Given the description of an element on the screen output the (x, y) to click on. 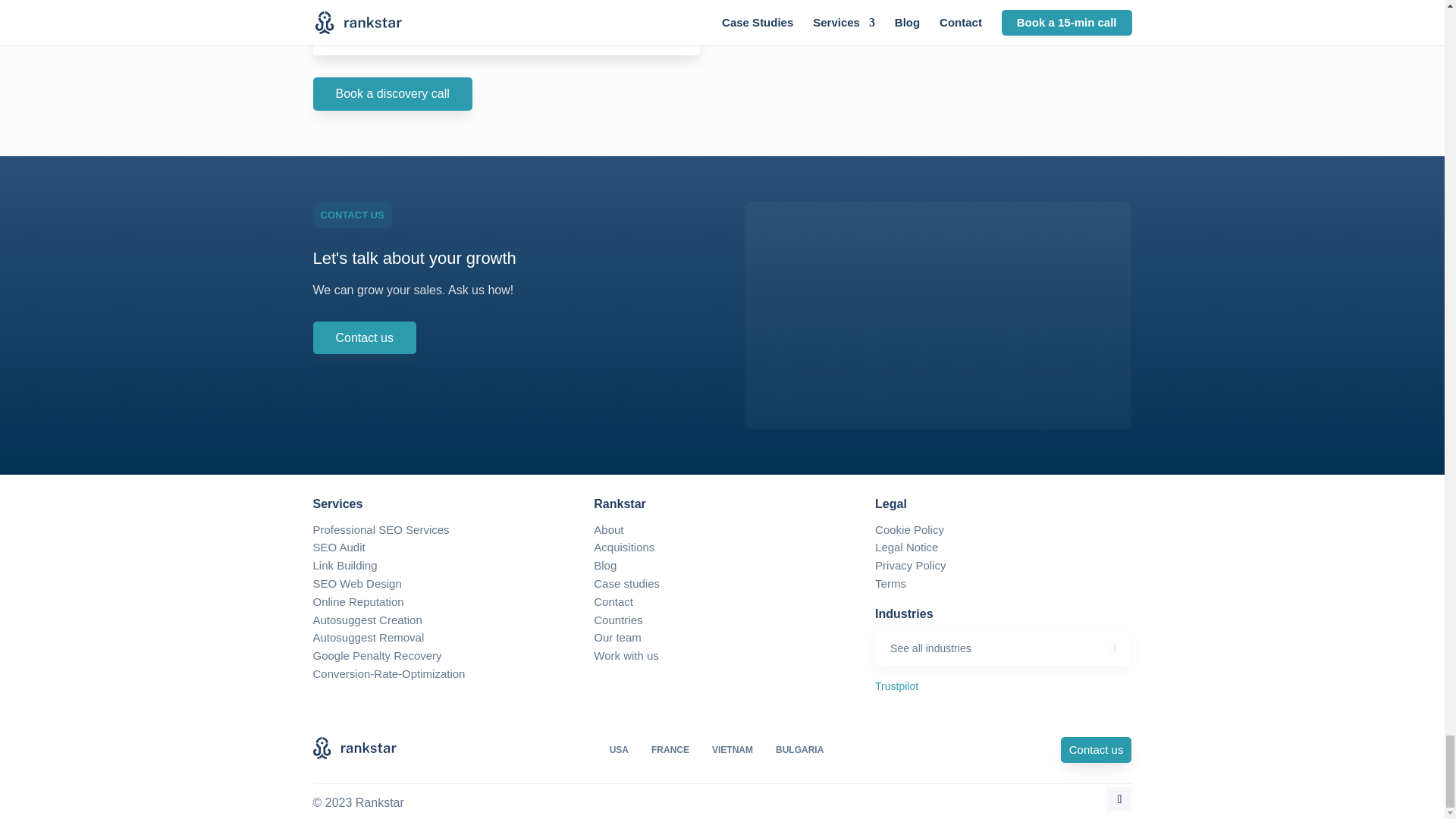
Follow on LinkedIn (1118, 799)
rankstar seo logo dark blue-01 (354, 748)
